Given the description of an element on the screen output the (x, y) to click on. 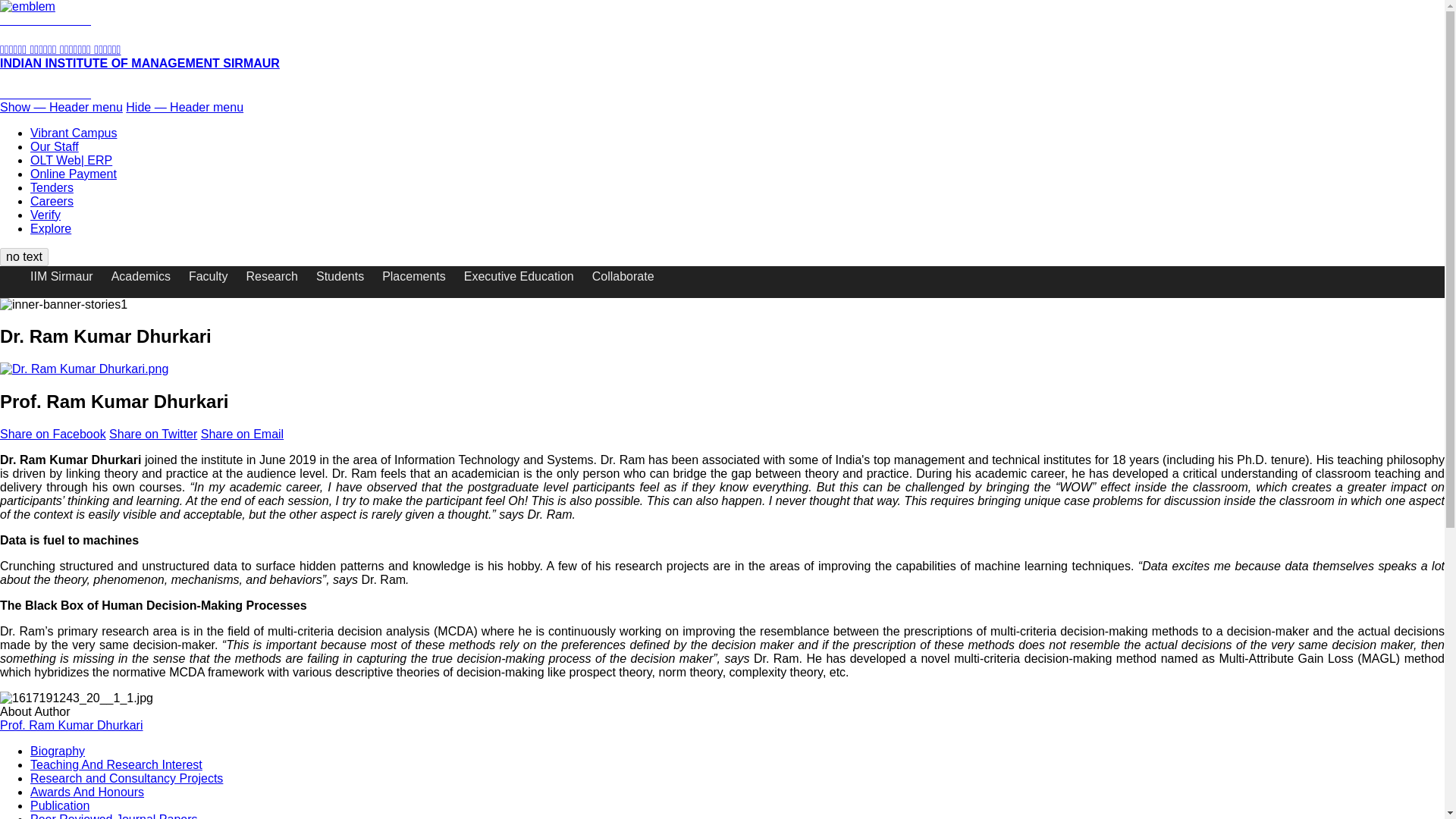
Online Payment (73, 173)
Biography (57, 750)
Share on Email (241, 433)
Vibrant Campus (73, 132)
no text (24, 257)
Executive Education (528, 276)
Verify (45, 214)
Tenders (52, 187)
Our Staff (54, 146)
Academics (150, 276)
